Given the description of an element on the screen output the (x, y) to click on. 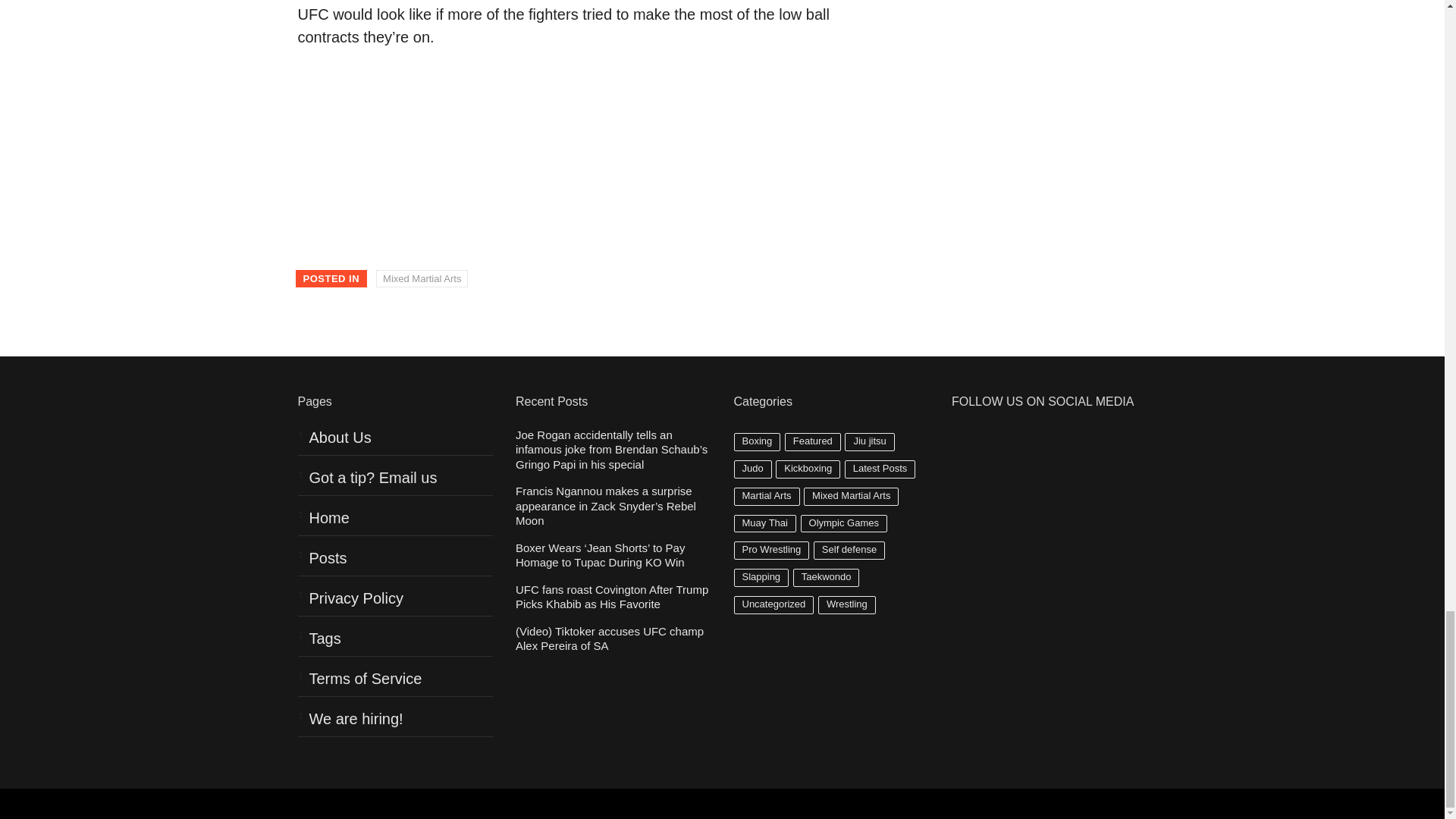
Mixed Martial Arts (421, 279)
